Given the description of an element on the screen output the (x, y) to click on. 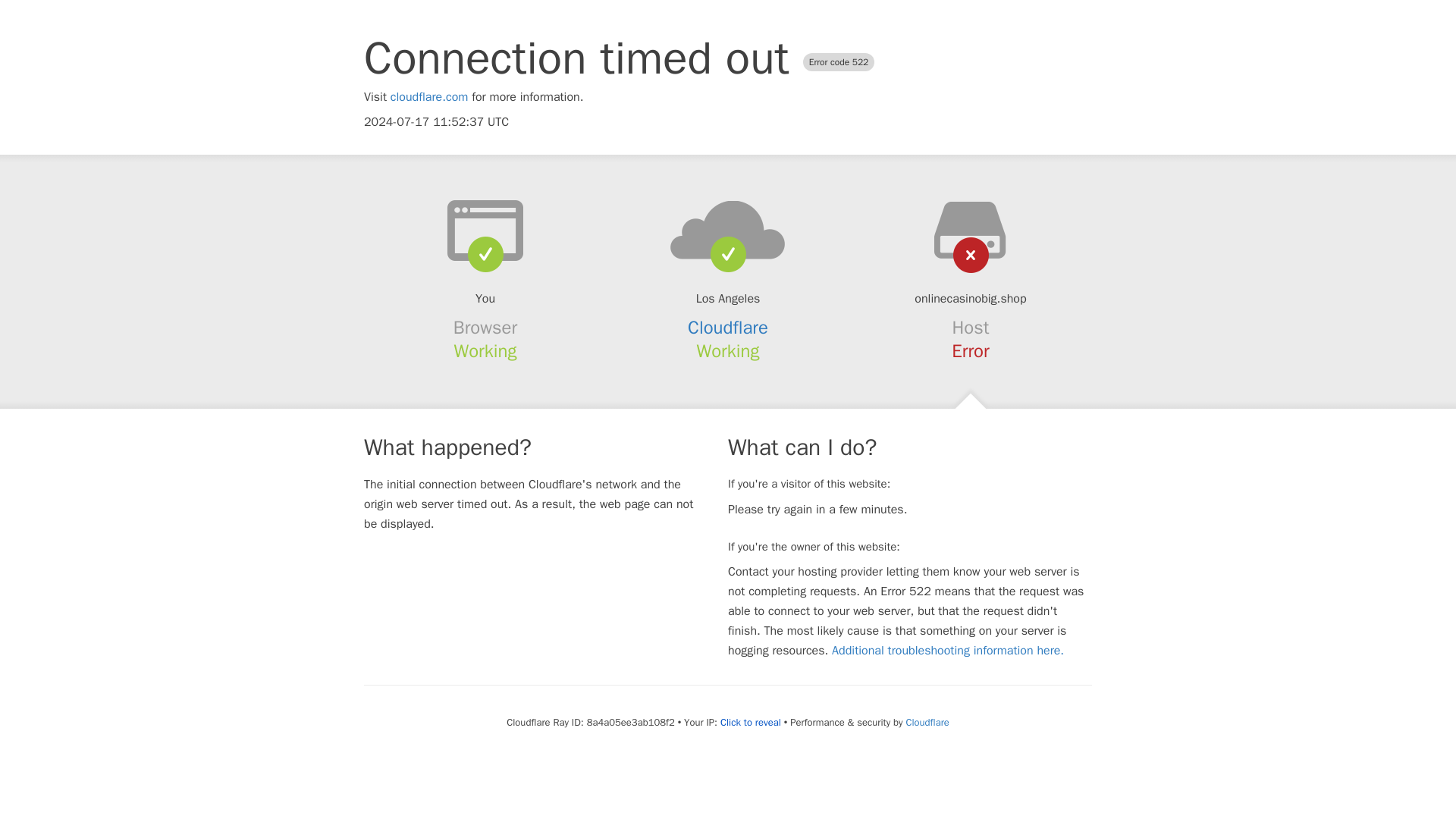
cloudflare.com (429, 96)
Additional troubleshooting information here. (947, 650)
Cloudflare (727, 327)
Cloudflare (927, 721)
Click to reveal (750, 722)
